Given the description of an element on the screen output the (x, y) to click on. 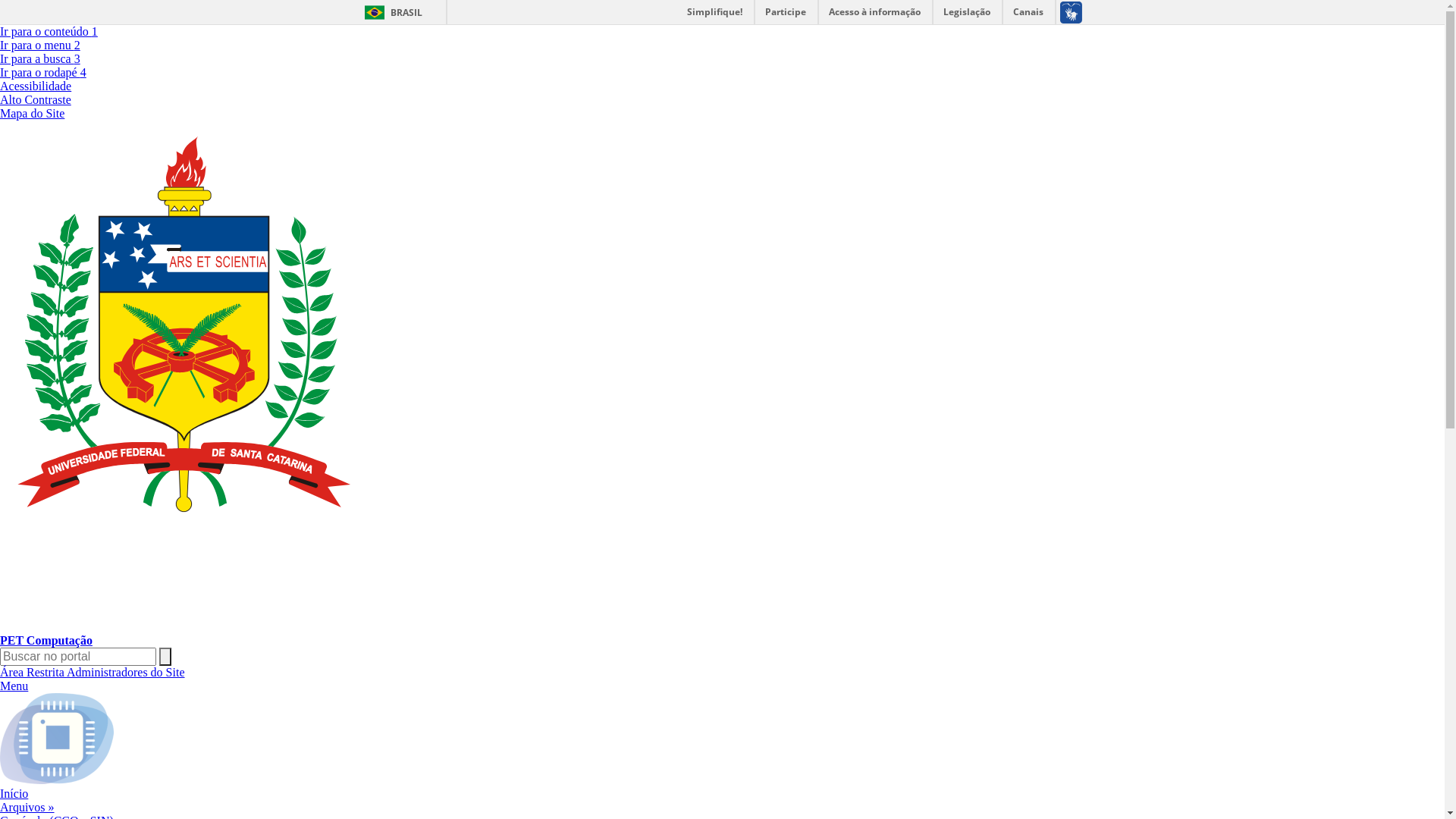
Ir para o menu 2 Element type: text (40, 44)
Acessibilidade Element type: text (35, 85)
Ir para a busca 3 Element type: text (40, 58)
Administradores do Site Element type: text (125, 671)
BRASIL Element type: text (389, 12)
Menu Element type: text (14, 685)
Mapa do Site Element type: text (32, 112)
Alto Contraste Element type: text (35, 99)
